Given the description of an element on the screen output the (x, y) to click on. 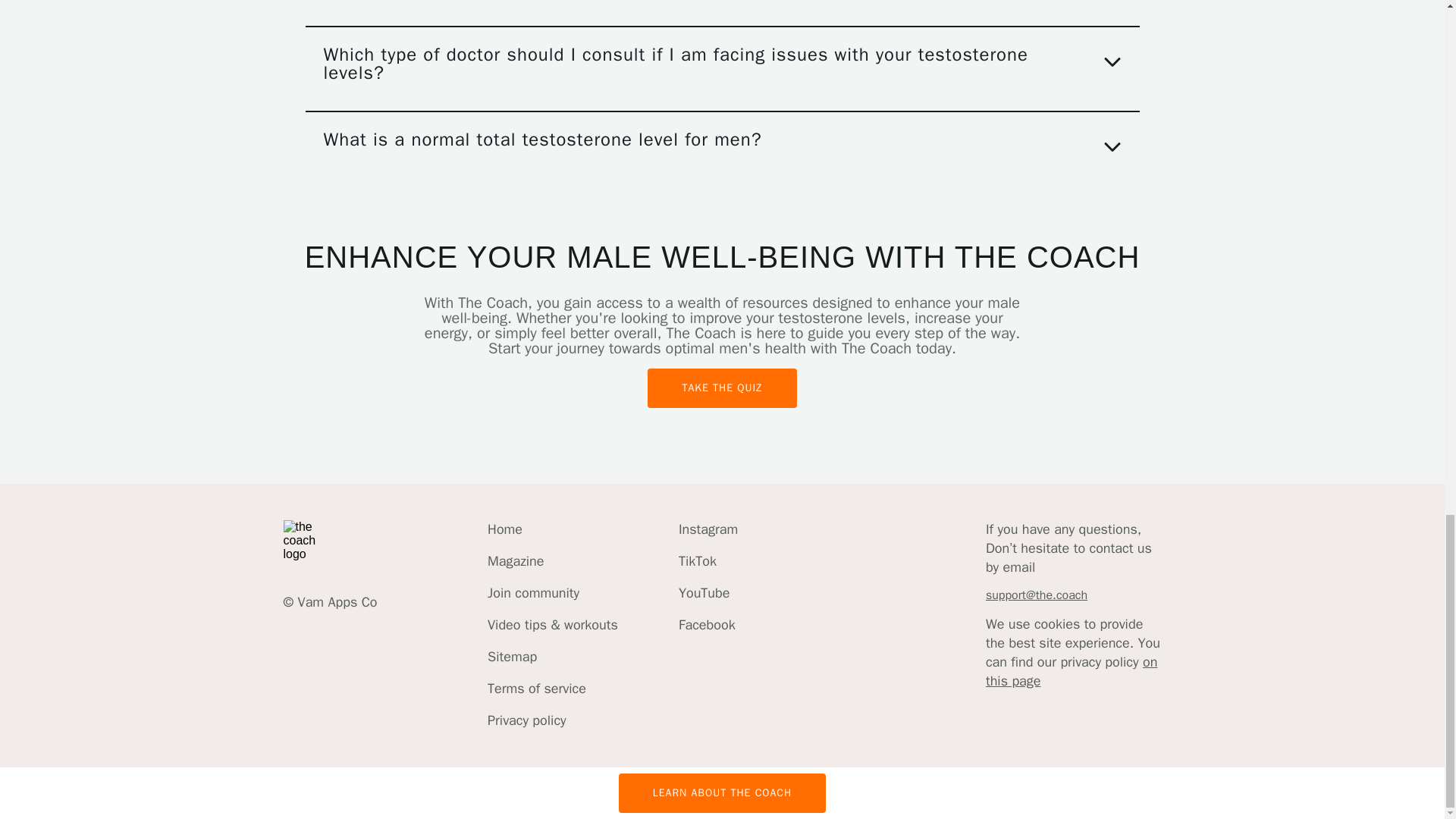
Privacy policy (552, 720)
TAKE THE QUIZ (721, 387)
TikTok (708, 561)
Instagram (708, 529)
Terms of service (552, 688)
YouTube (708, 592)
Facebook (708, 624)
on this page (1071, 671)
Sitemap (552, 656)
